Given the description of an element on the screen output the (x, y) to click on. 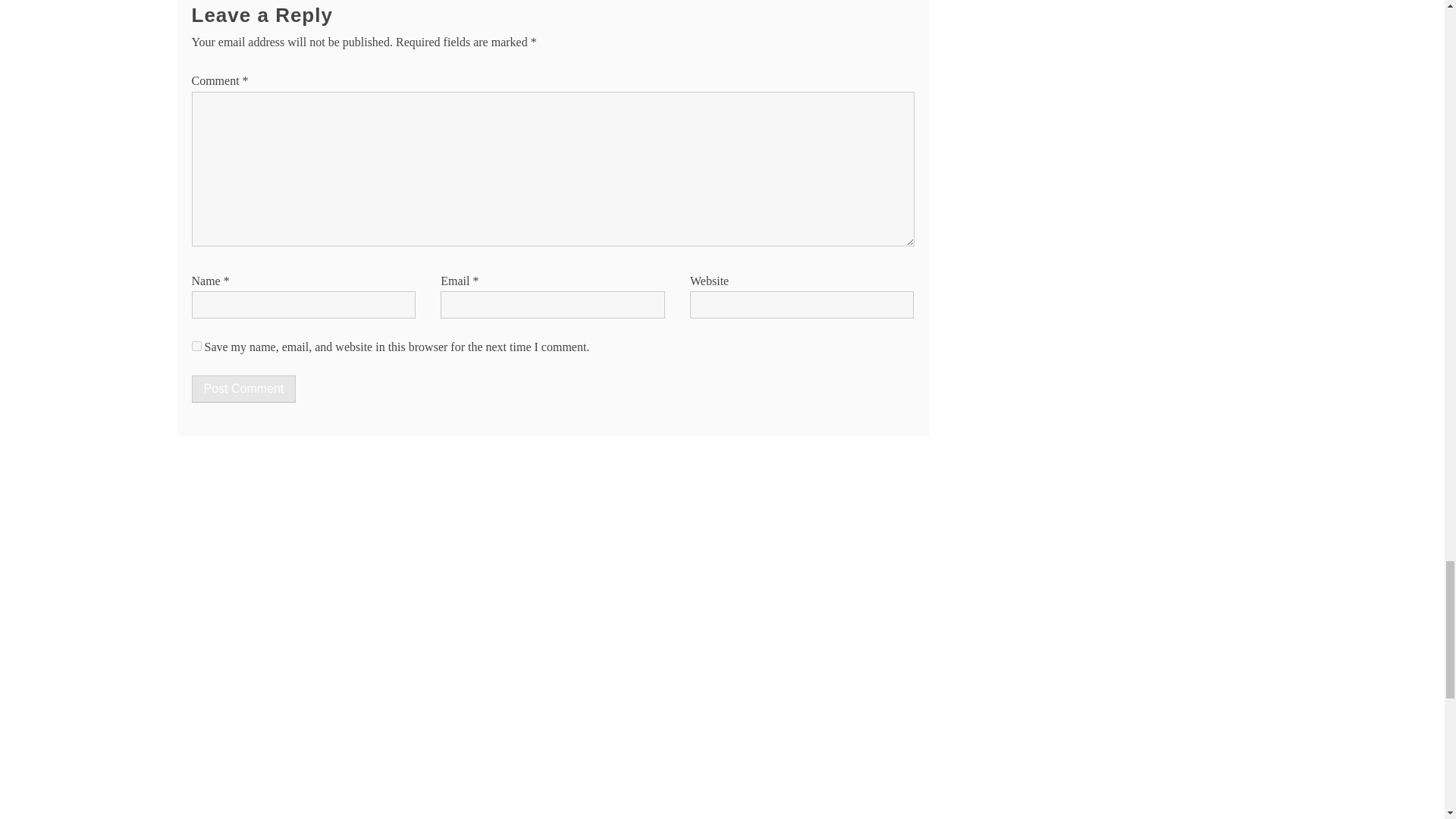
yes (195, 346)
Post Comment (242, 388)
